Given the description of an element on the screen output the (x, y) to click on. 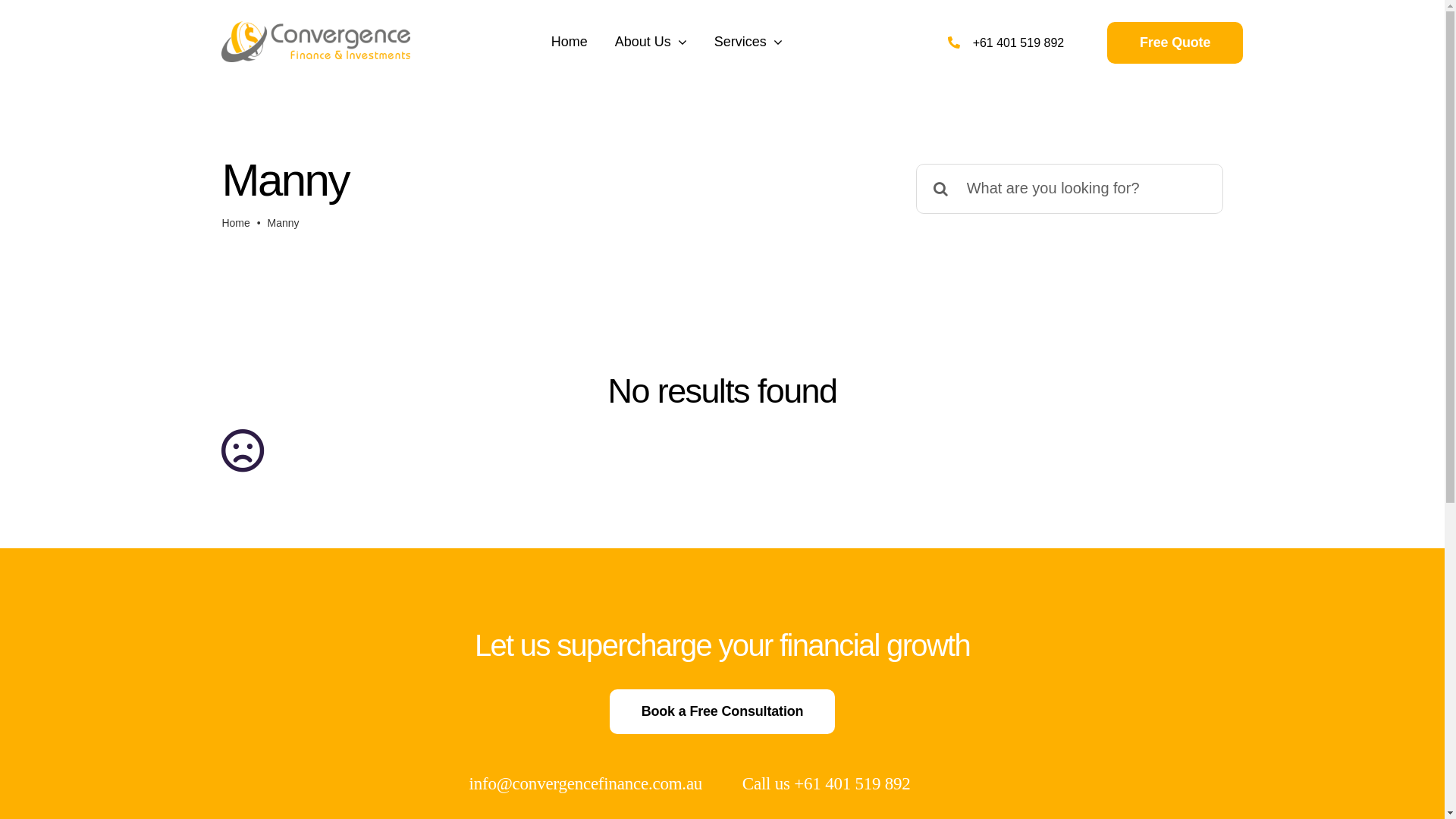
Services Element type: text (748, 42)
+61 Element type: text (809, 783)
info@convergencefinance.com.au Element type: text (585, 783)
Home Element type: text (569, 42)
Free Quote Element type: text (1174, 41)
Book a Free Consultation Element type: text (722, 711)
+61 401 519 892 Element type: text (1018, 42)
About Us Element type: text (650, 42)
Home Element type: text (235, 222)
